Given the description of an element on the screen output the (x, y) to click on. 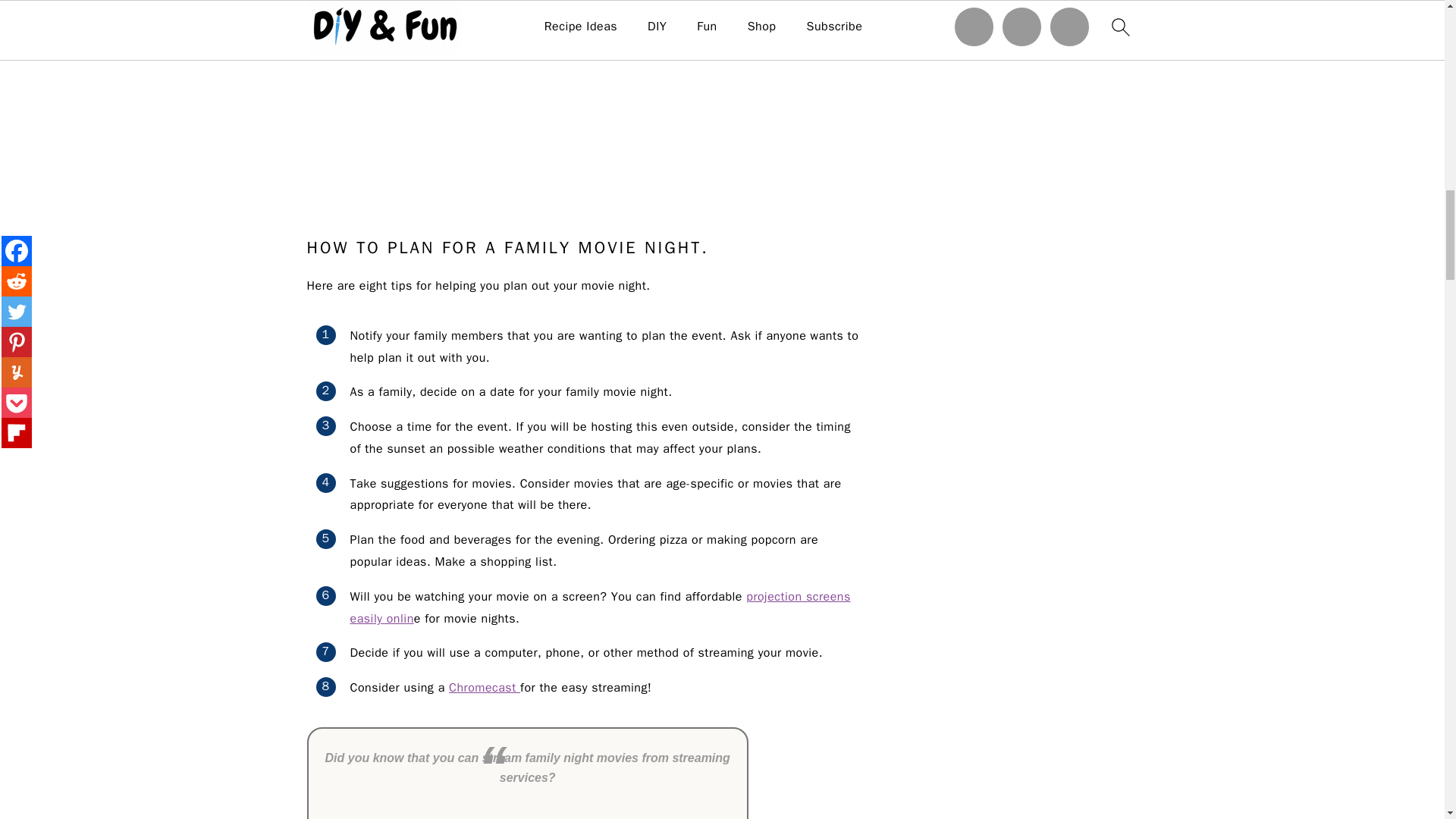
Chromecast (483, 687)
projection screens easily onlin (600, 607)
